Given the description of an element on the screen output the (x, y) to click on. 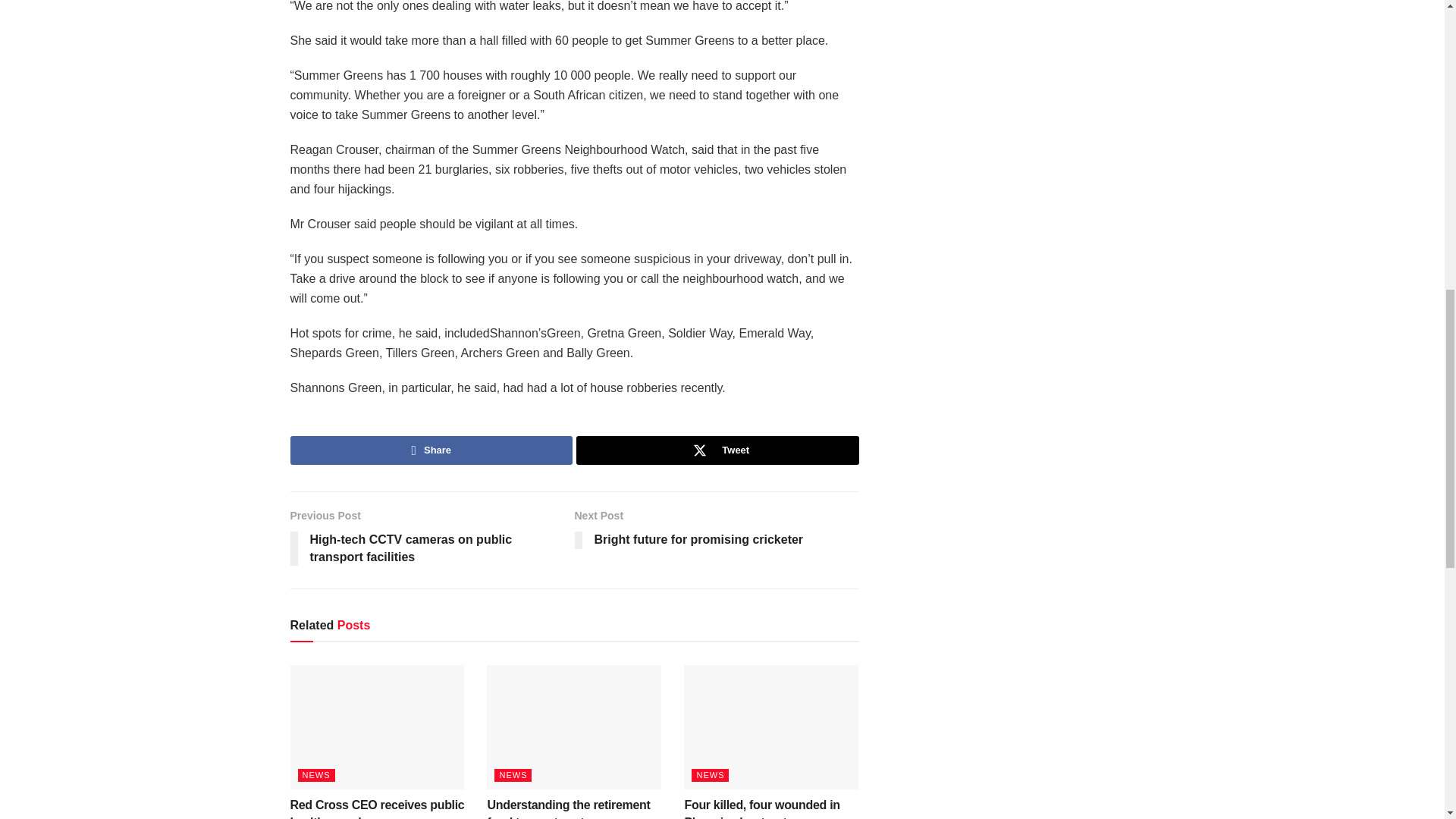
Tweet (717, 531)
Share (717, 450)
